Given the description of an element on the screen output the (x, y) to click on. 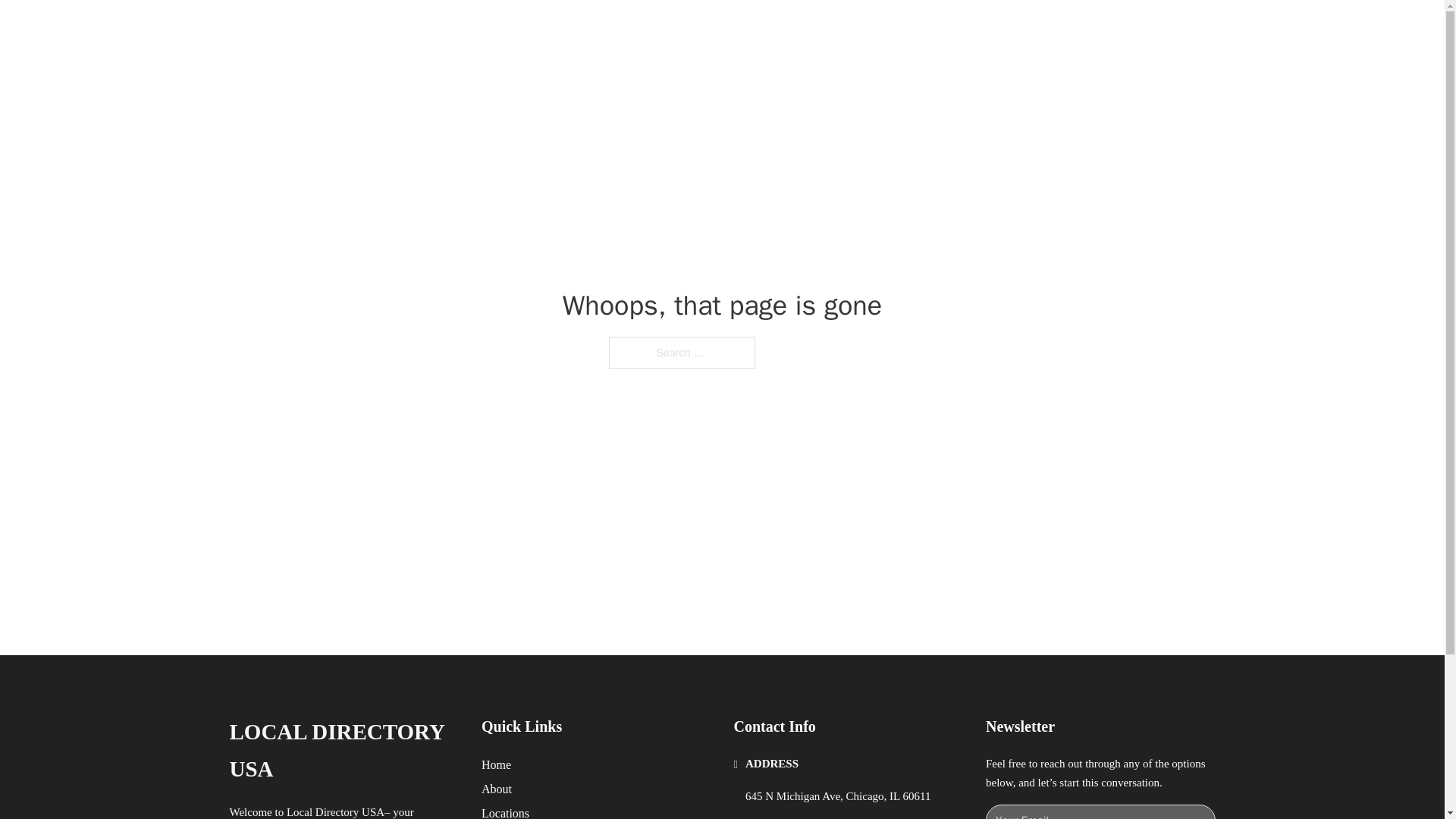
About (496, 788)
LOCAL DIRECTORY USA (343, 750)
Locations (505, 811)
HOME (919, 29)
LOCAL DIRECTORY USA (425, 28)
Home (496, 764)
LOCATIONS (990, 29)
